Given the description of an element on the screen output the (x, y) to click on. 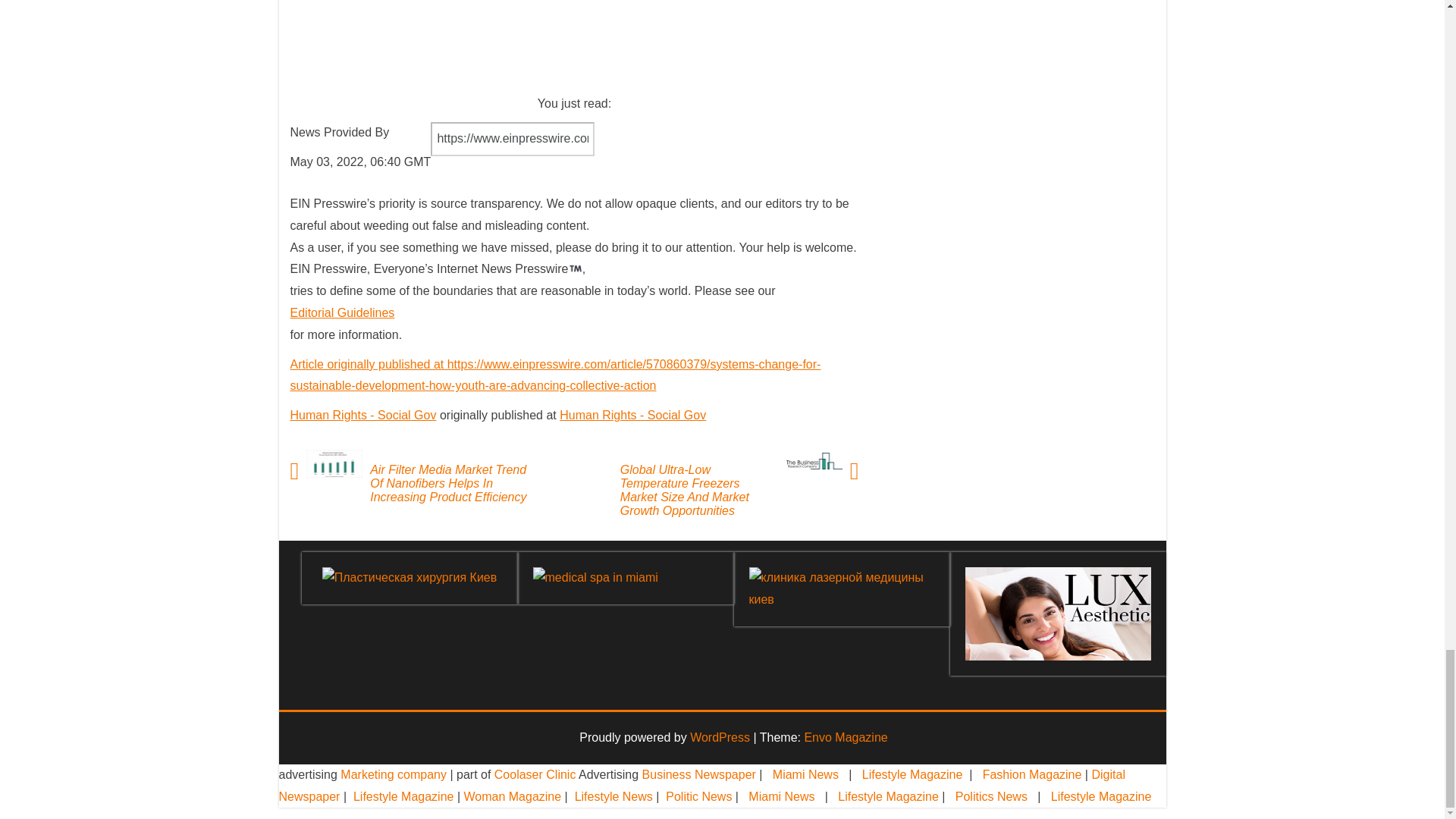
Human Rights - Social Gov (362, 414)
Human Rights - Social Gov (632, 414)
Editorial Guidelines (341, 312)
